Given the description of an element on the screen output the (x, y) to click on. 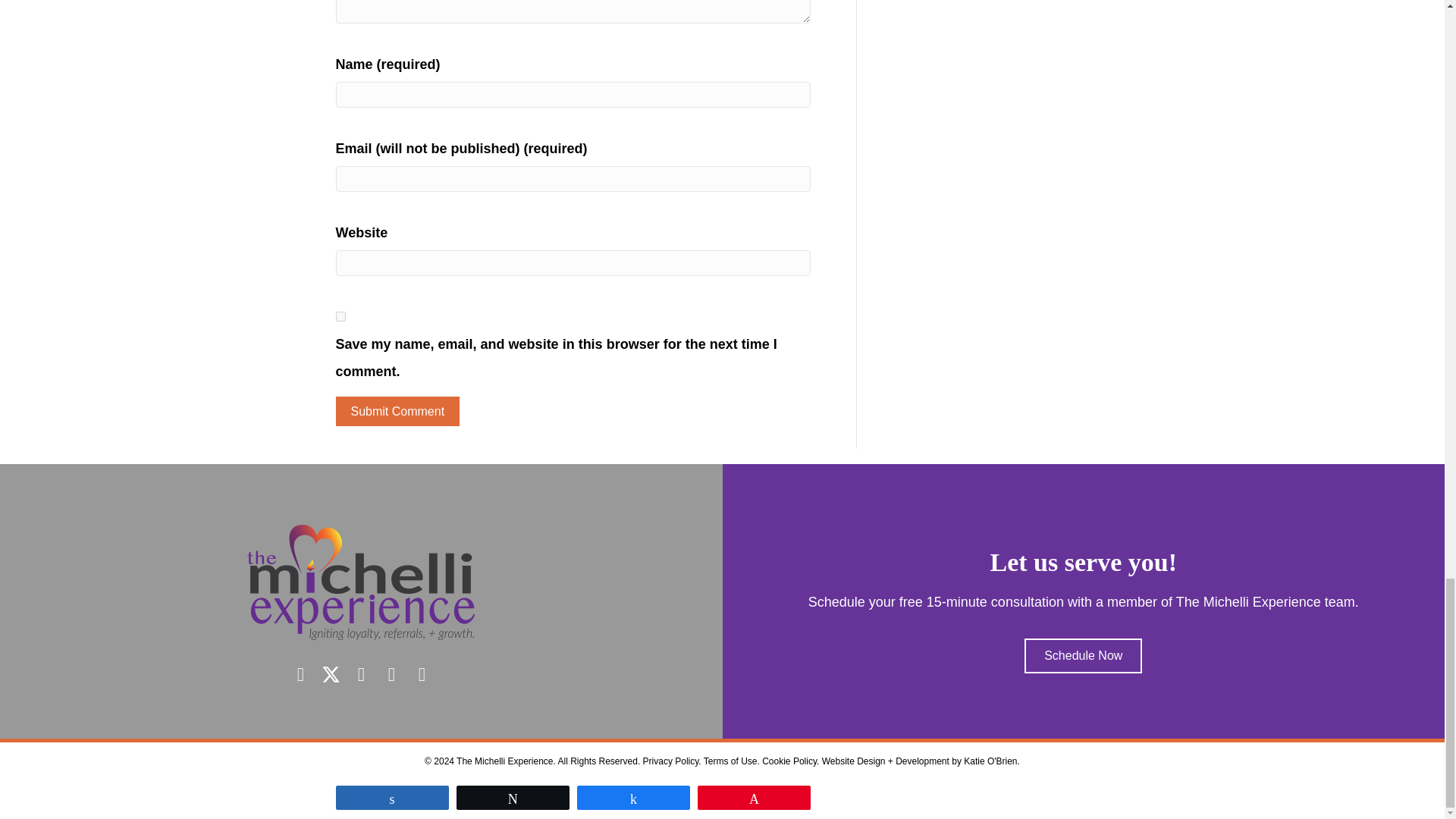
Privacy Policy. (672, 760)
Schedule Now (1083, 655)
The Michelli Experience (505, 760)
Facebook (299, 673)
yes (339, 316)
Submit Comment (397, 410)
Click Here (1083, 655)
ME-Logo-FINAL-2018-vector (360, 581)
Submit Comment (397, 410)
